Given the description of an element on the screen output the (x, y) to click on. 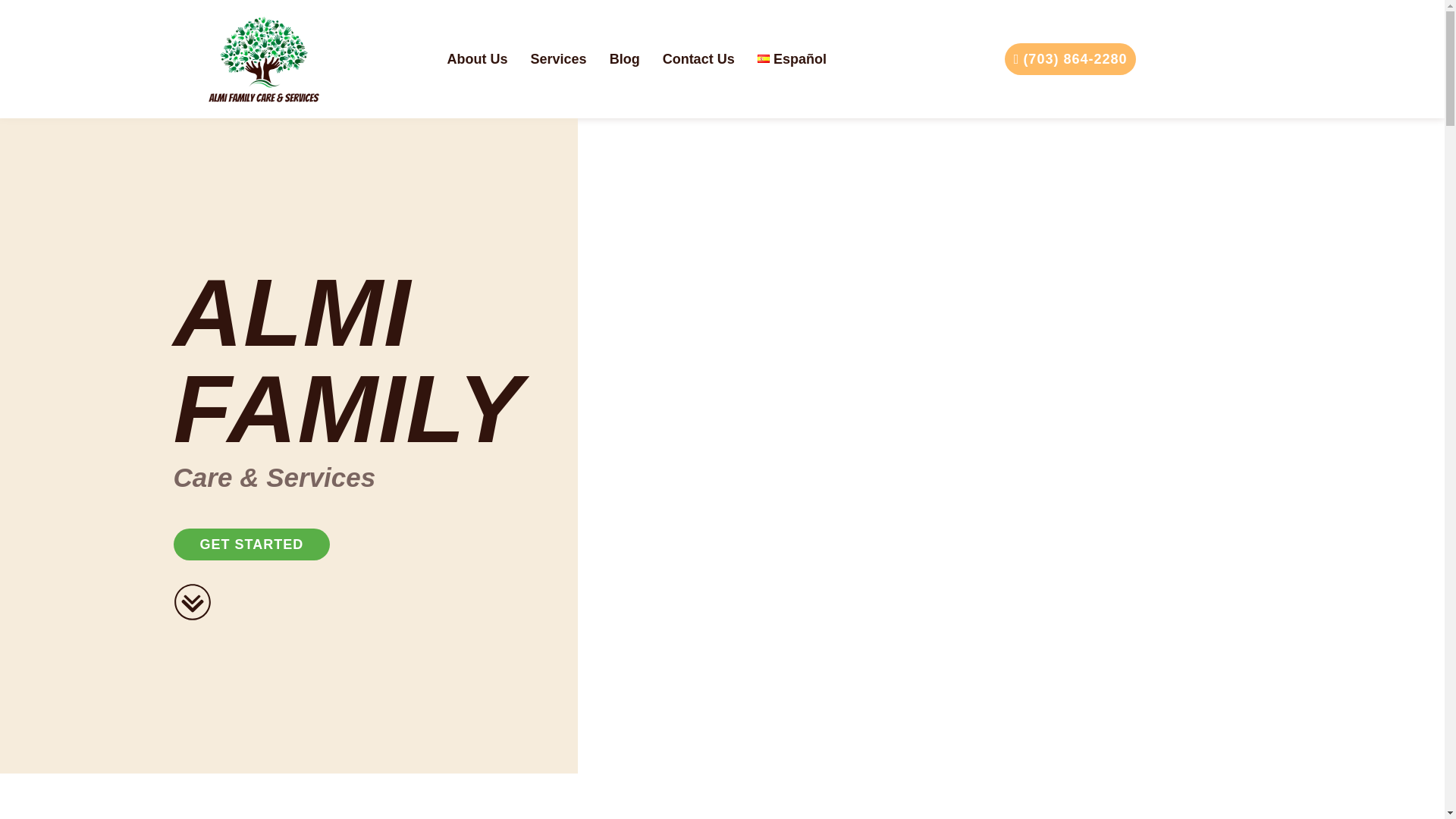
GET STARTED (251, 544)
Services (559, 58)
Contact Us (698, 58)
About Us (478, 58)
Blog (624, 58)
